Given the description of an element on the screen output the (x, y) to click on. 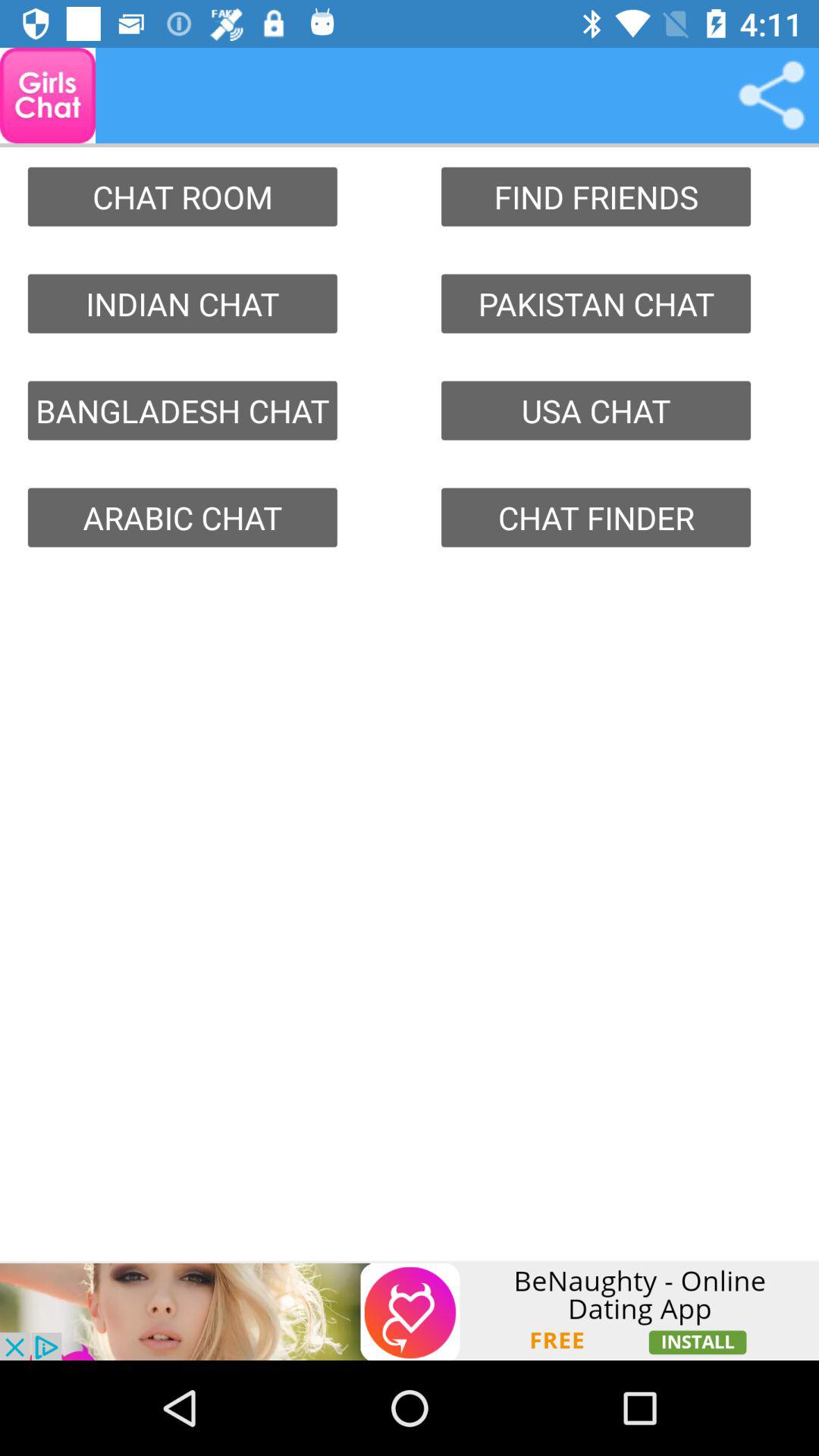
link media (771, 95)
